Given the description of an element on the screen output the (x, y) to click on. 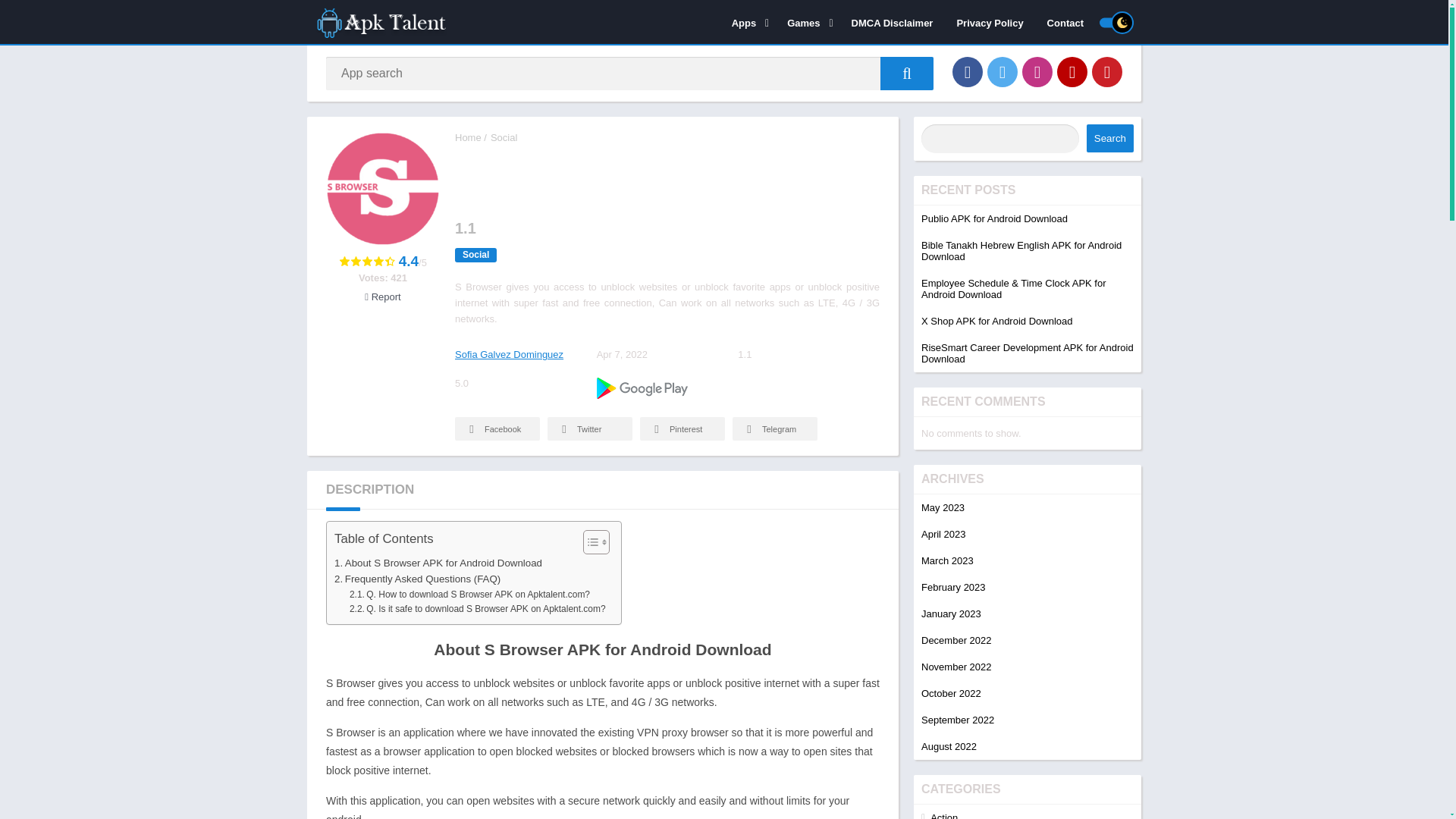
Games (807, 22)
App search (906, 73)
Q. How to download S Browser APK on Apktalent.com? (469, 594)
Pinterest (1107, 71)
Privacy Policy (988, 22)
Social (503, 137)
Sofia Galvez Dominguez (508, 354)
Contact (1064, 22)
YouTube (1072, 71)
About S Browser APK for Android Download (437, 562)
Instagram (1037, 71)
Report (382, 296)
Facebook (967, 71)
DMCA Disclaimer (892, 22)
Twitter (1002, 71)
